Given the description of an element on the screen output the (x, y) to click on. 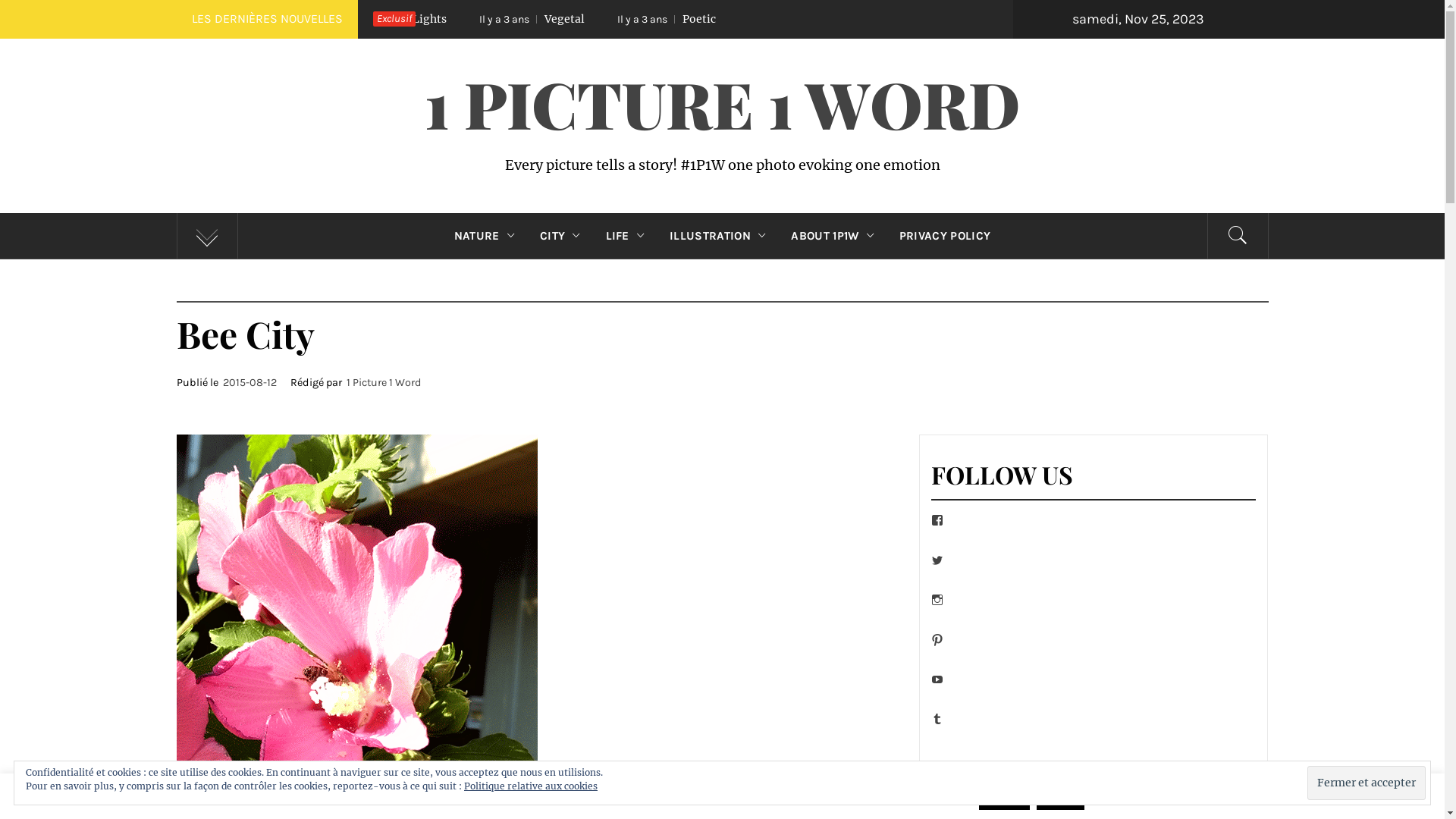
Il y a 3 ansLights Element type: text (807, 19)
CITY Element type: text (563, 235)
Politique relative aux cookies Element type: text (530, 785)
2015-08-12 Element type: text (249, 382)
Twitter Element type: text (935, 560)
Accept Element type: text (1003, 797)
Rechercher Element type: text (797, 37)
PRIVACY POLICY Element type: text (944, 235)
Fermer et accepter Element type: text (1366, 782)
Il y a 3 ansVegetal Element type: text (940, 19)
1 Picture 1 Word Element type: text (382, 382)
ABOUT 1P1W Element type: text (835, 235)
1 PICTURE 1 WORD Element type: text (721, 102)
Facebook Element type: text (935, 520)
Pinterest Element type: text (935, 639)
Instagram Element type: text (935, 599)
NATURE Element type: text (487, 235)
Reject Element type: text (1059, 797)
Tumblr Element type: text (935, 718)
ILLUSTRATION Element type: text (721, 235)
Read More Element type: text (1117, 797)
Il y a 3 ansCat life Element type: text (675, 19)
LIFE Element type: text (628, 235)
Il y a 3 ansBee Element type: text (551, 19)
YouTube Element type: text (935, 679)
